Given the description of an element on the screen output the (x, y) to click on. 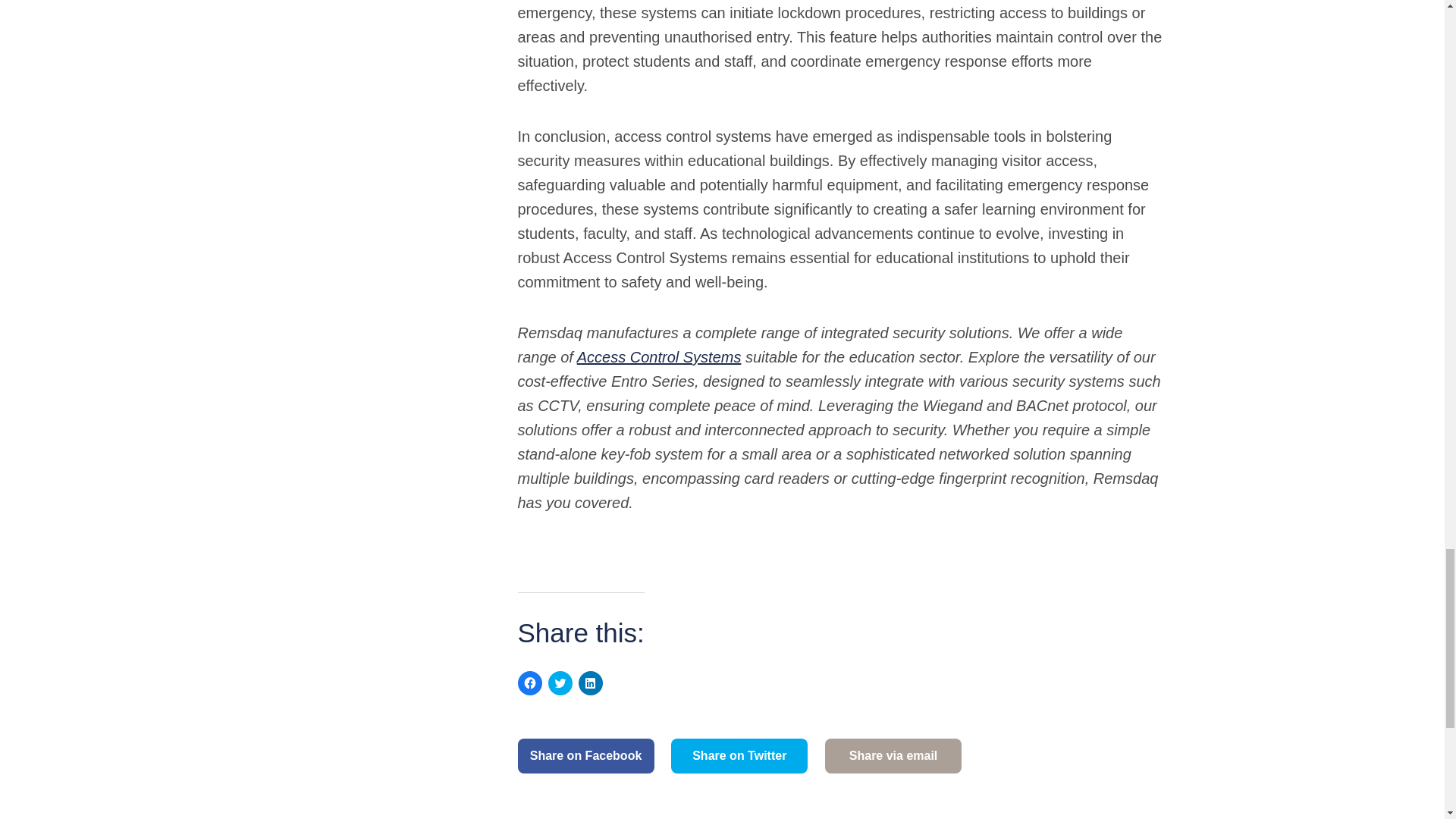
Share on Facebook. (584, 755)
Click to share on LinkedIn (590, 682)
Share by Email (892, 755)
Click to share on Twitter (559, 682)
Click to share on Facebook (528, 682)
Tweet this! (739, 755)
